Given the description of an element on the screen output the (x, y) to click on. 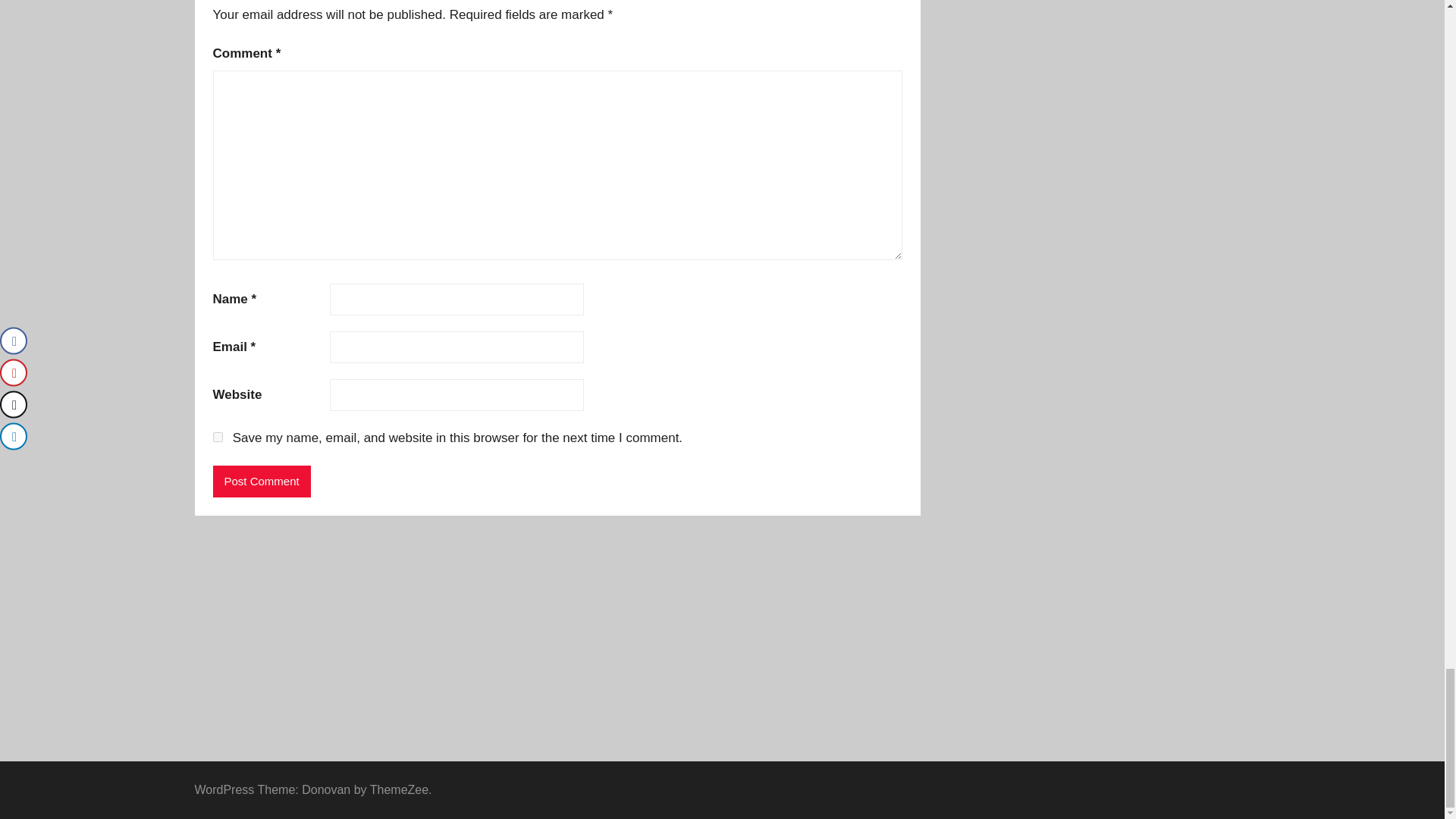
Post Comment (261, 481)
yes (217, 437)
Post Comment (261, 481)
